Given the description of an element on the screen output the (x, y) to click on. 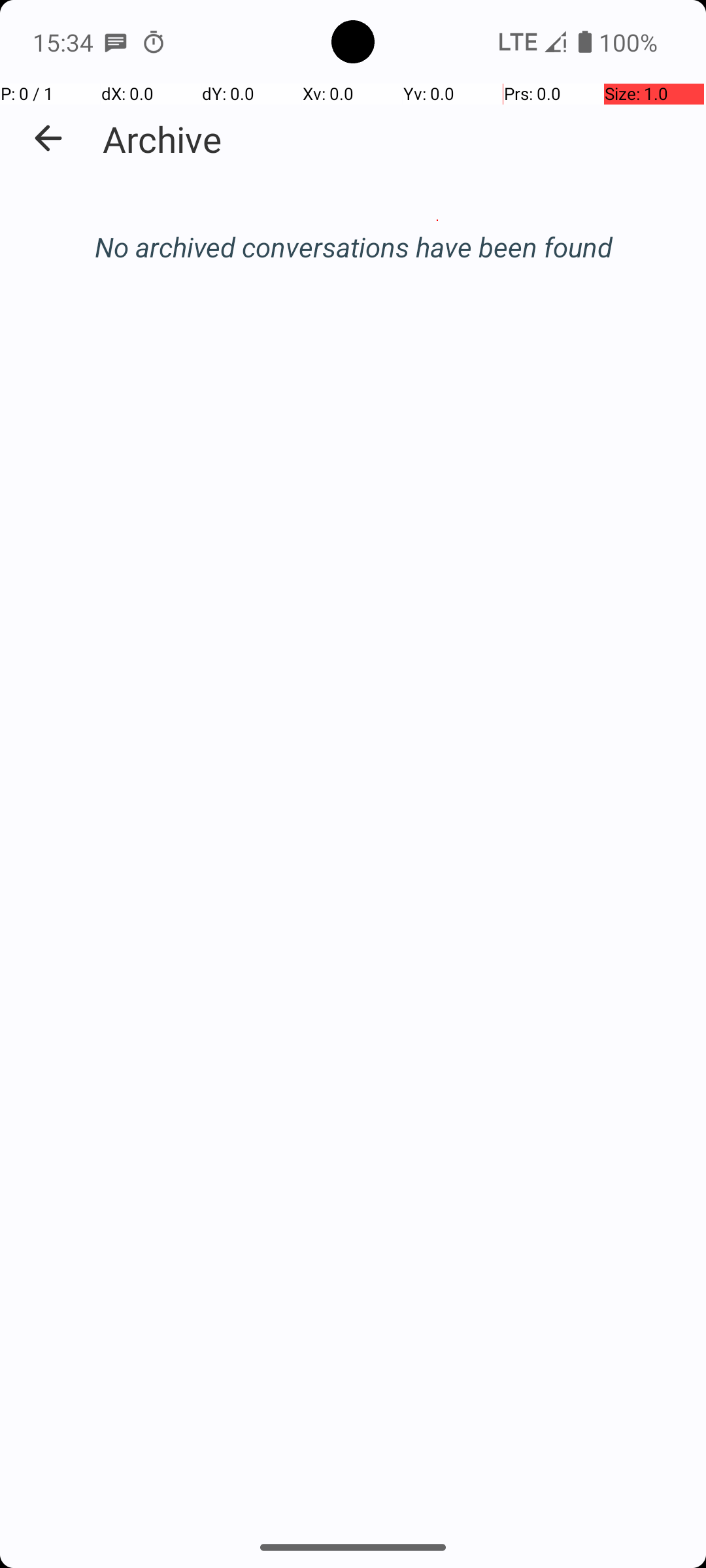
Archive Element type: android.widget.TextView (162, 138)
No archived conversations have been found Element type: android.widget.TextView (353, 246)
